Given the description of an element on the screen output the (x, y) to click on. 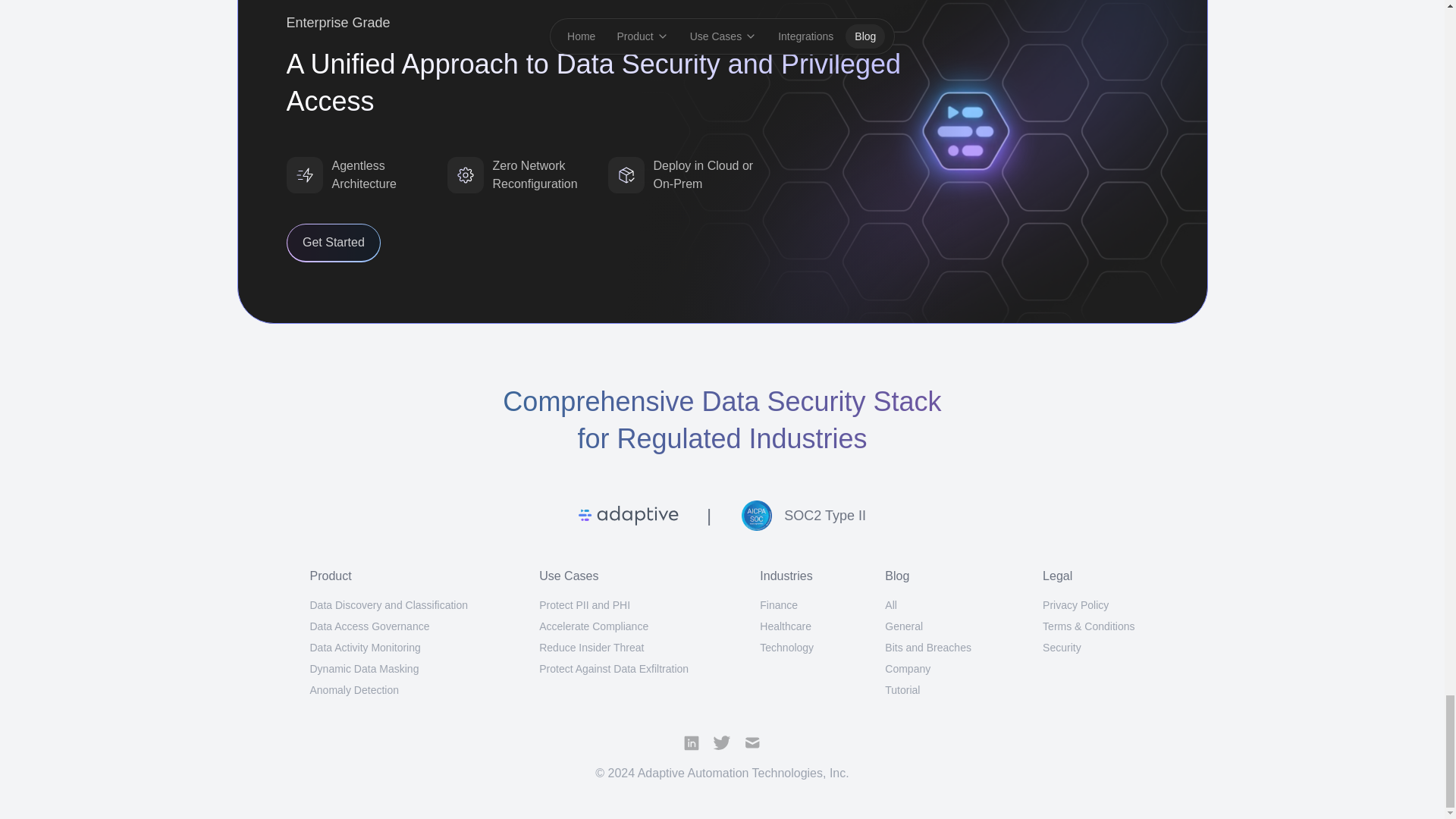
Dynamic Data Masking (363, 668)
Technology (786, 647)
Data Discovery and Classification (387, 604)
Protect PII and PHI (584, 604)
Reduce Insider Threat (590, 647)
Bits and Breaches (928, 647)
Privacy Policy (1075, 604)
Data Access Governance (368, 625)
Anomaly Detection (353, 689)
Accelerate Compliance (592, 625)
Security (1061, 647)
Tutorial (902, 689)
Protect Against Data Exfiltration (613, 668)
Healthcare (785, 625)
Finance (778, 604)
